Given the description of an element on the screen output the (x, y) to click on. 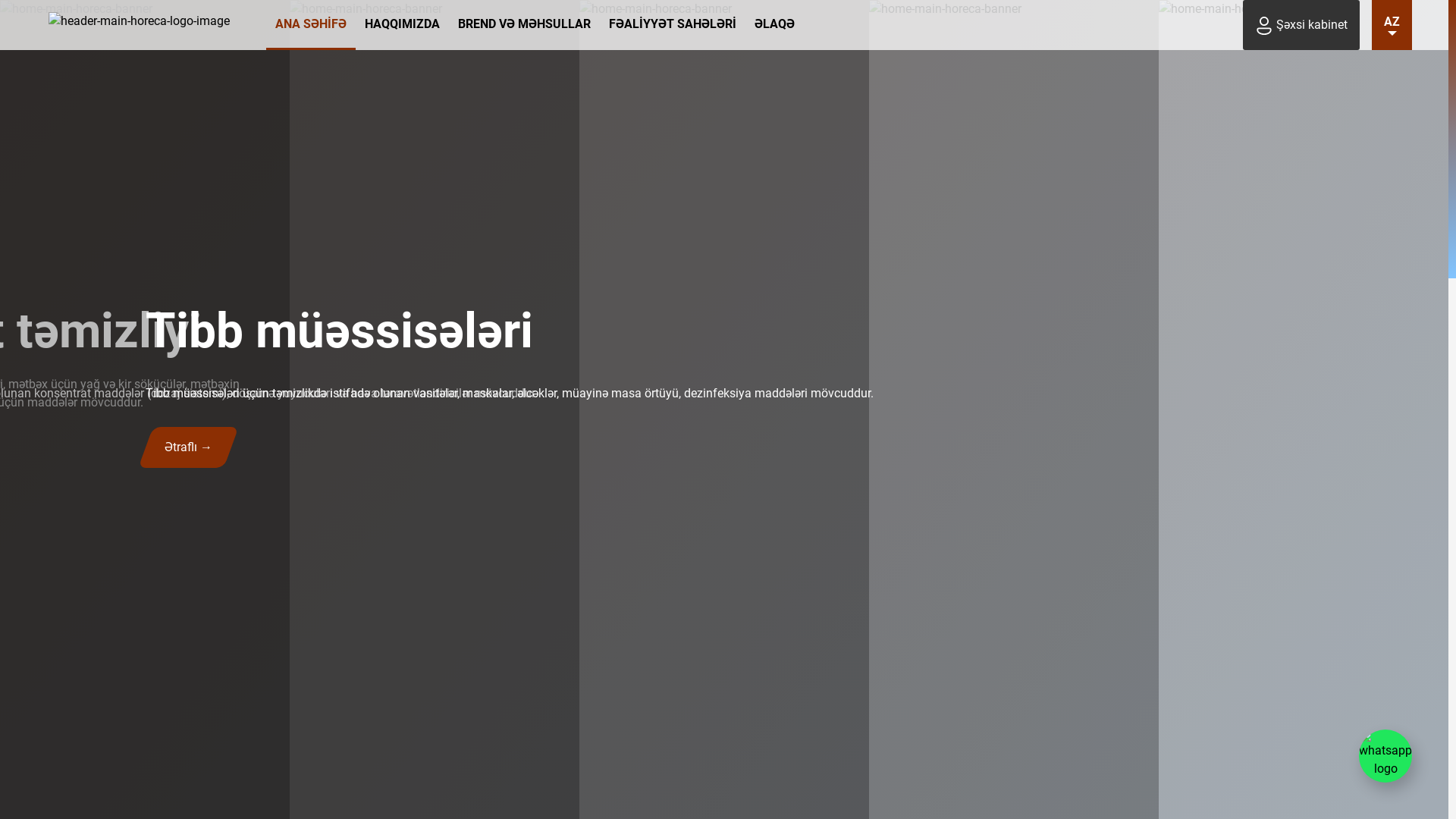
HAQQIMIZDA Element type: text (401, 25)
